Given the description of an element on the screen output the (x, y) to click on. 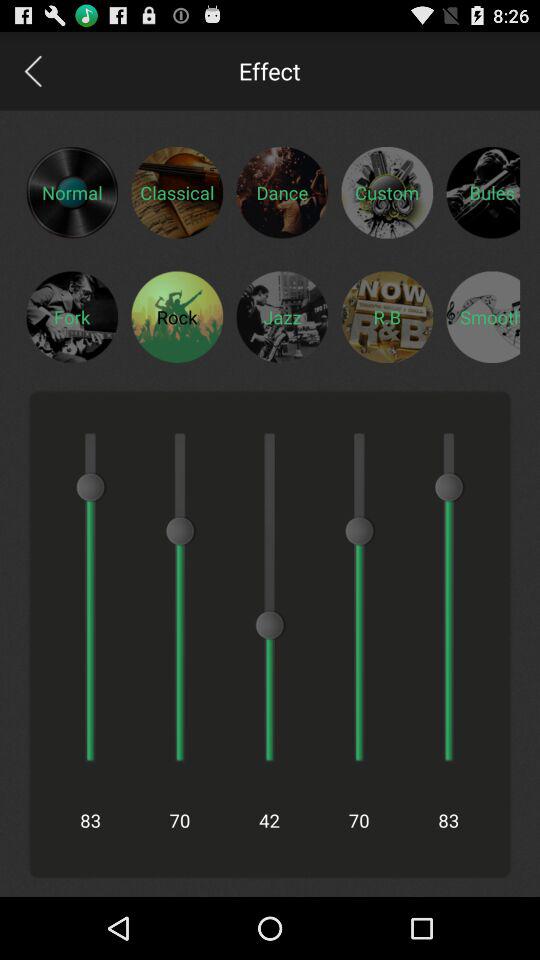
the classification to be normal (72, 191)
